Given the description of an element on the screen output the (x, y) to click on. 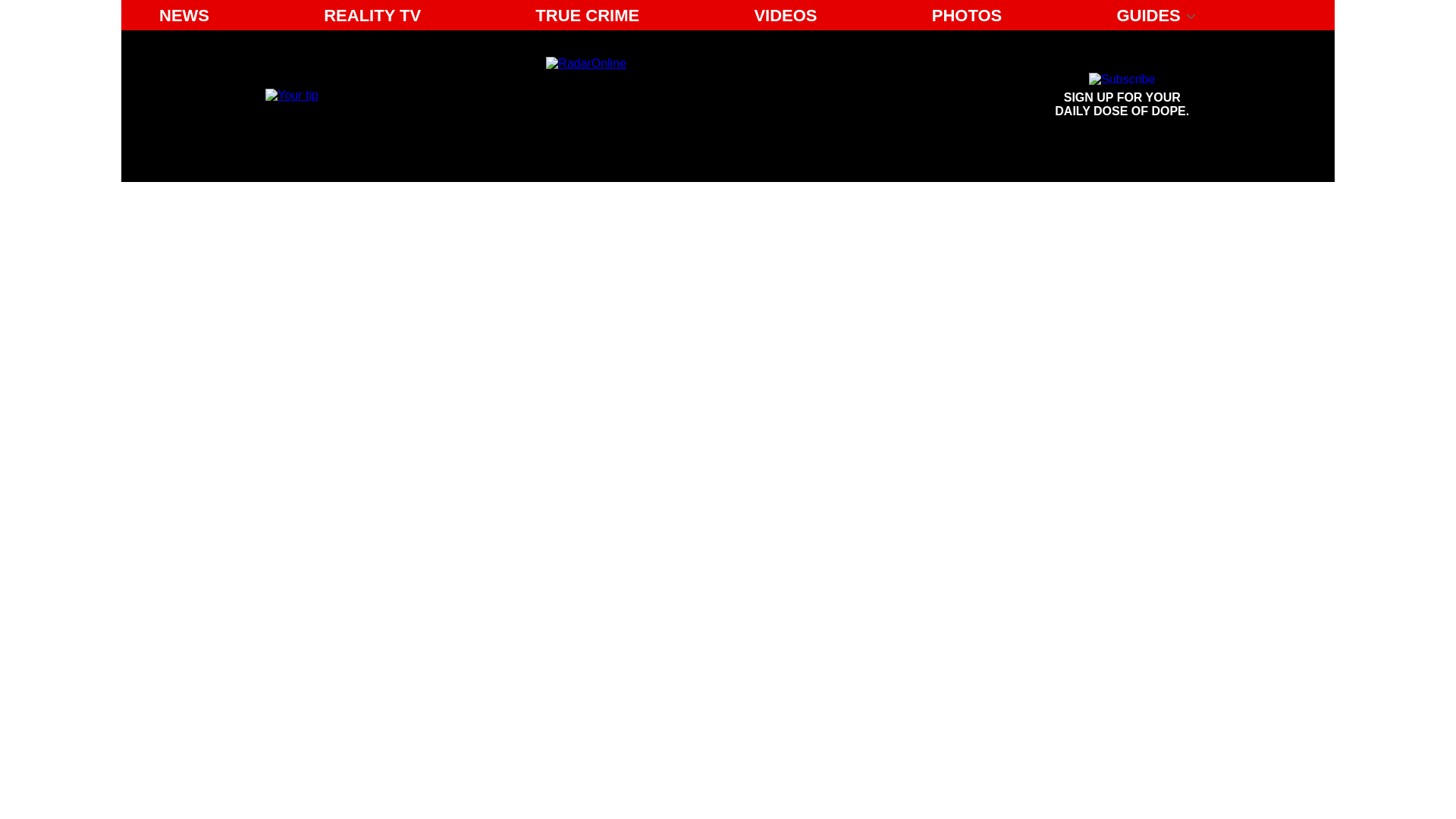
TRUE CRIME (586, 15)
VIDEOS (784, 15)
Email us your tip (291, 94)
Radar Online (685, 95)
PHOTOS (967, 15)
REALITY TV (1122, 94)
NEWS (371, 15)
Sign up for your daily dose of dope. (183, 15)
